Given the description of an element on the screen output the (x, y) to click on. 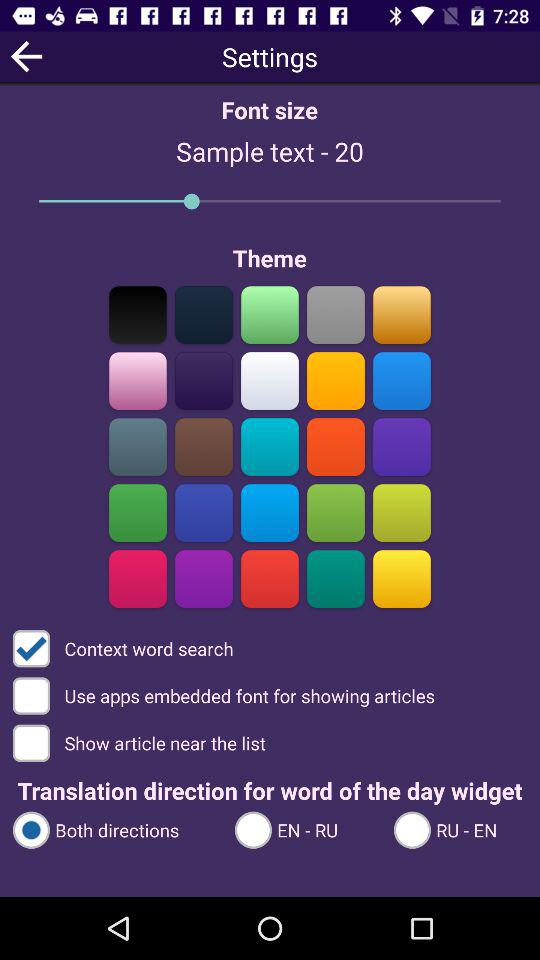
change background color (137, 512)
